Given the description of an element on the screen output the (x, y) to click on. 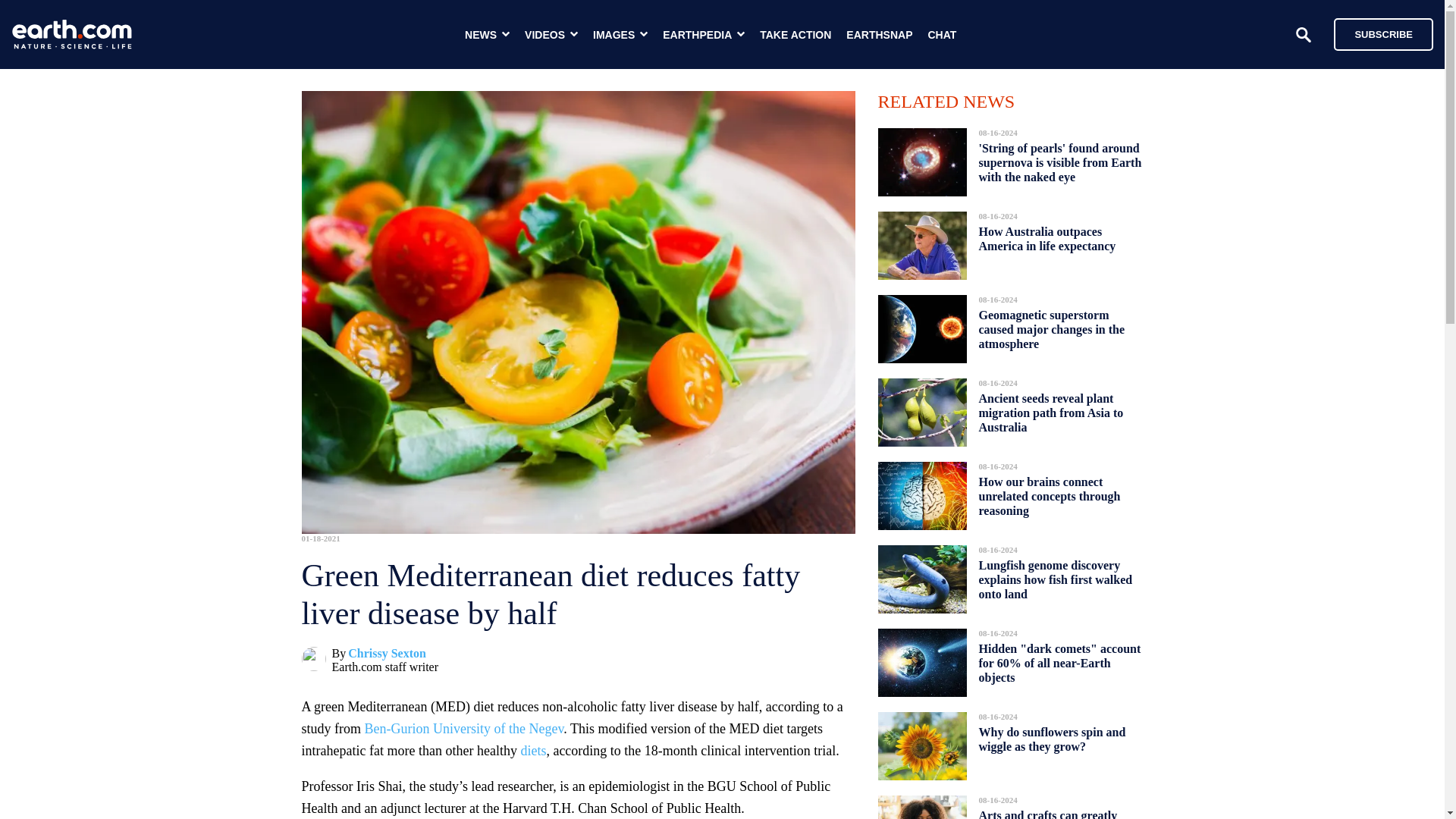
EARTHSNAP (878, 34)
diets (532, 750)
Chrissy Sexton (386, 653)
How our brains connect unrelated concepts through reasoning (1048, 495)
TAKE ACTION (795, 34)
Arts and crafts can greatly improve public well-being (1047, 810)
Why do sunflowers spin and wiggle as they grow? (1051, 739)
